Given the description of an element on the screen output the (x, y) to click on. 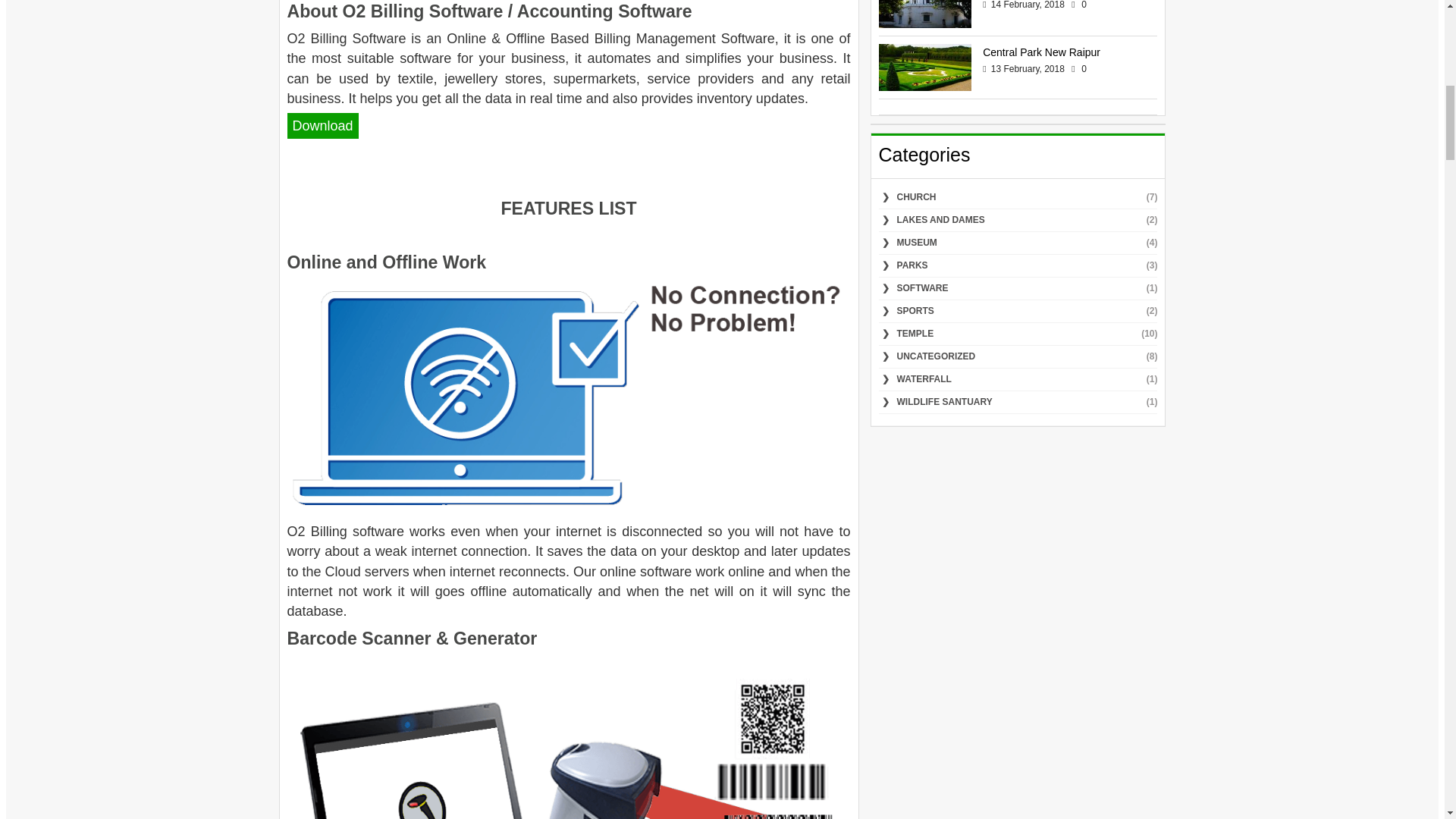
Download (322, 125)
Free Billing softwares in raipur chhattisgarh (568, 397)
Download Free Billing Software (322, 125)
